Given the description of an element on the screen output the (x, y) to click on. 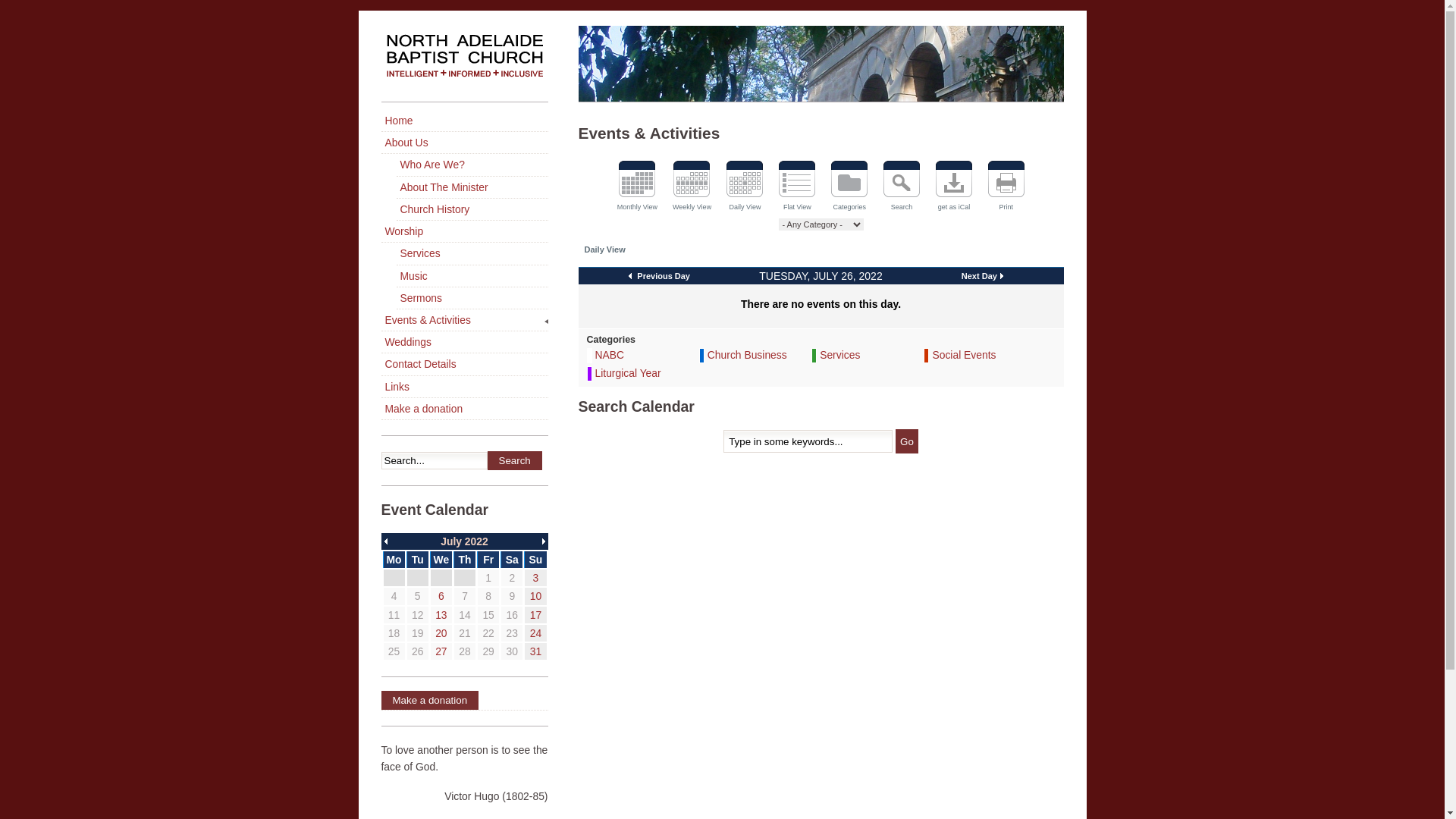
Flat View Element type: text (796, 187)
Services Element type: text (839, 354)
24 Element type: text (535, 633)
Liturgical Year Element type: text (627, 373)
Categories Element type: text (849, 187)
About The Minister Element type: text (471, 187)
Social Events Element type: text (963, 354)
Links Element type: text (463, 387)
10 Element type: text (535, 595)
Who Are We? Element type: text (471, 164)
3 Element type: text (536, 577)
Go Element type: text (906, 441)
Worship Element type: text (463, 231)
Next Day Element type: text (982, 275)
27 Element type: text (440, 651)
Make a donation Element type: text (463, 409)
Previous Day Element type: text (659, 275)
> Element type: text (544, 541)
Contact Details Element type: text (463, 364)
Music Element type: text (471, 276)
Church History Element type: text (471, 209)
North Adelaide Baptist Church Element type: hover (463, 63)
Events & Activities Element type: text (463, 320)
Search Element type: text (901, 187)
Weddings Element type: text (463, 342)
Home Element type: text (463, 120)
NABC Element type: text (609, 354)
20 Element type: text (440, 633)
Services Element type: text (471, 253)
31 Element type: text (535, 651)
17 Element type: text (535, 614)
13 Element type: text (440, 614)
Weekly View Element type: text (691, 187)
Monthly View Element type: text (637, 187)
Church Business Element type: text (747, 354)
Sermons Element type: text (471, 298)
Make a donation Element type: text (463, 700)
Search Element type: text (513, 460)
< Element type: text (383, 541)
get as iCal Element type: text (953, 187)
Make a donation Element type: text (429, 699)
July 2022 Element type: text (464, 541)
About Us Element type: text (463, 142)
6 Element type: text (441, 595)
Daily View Element type: text (744, 187)
Print Element type: text (1005, 187)
